Given the description of an element on the screen output the (x, y) to click on. 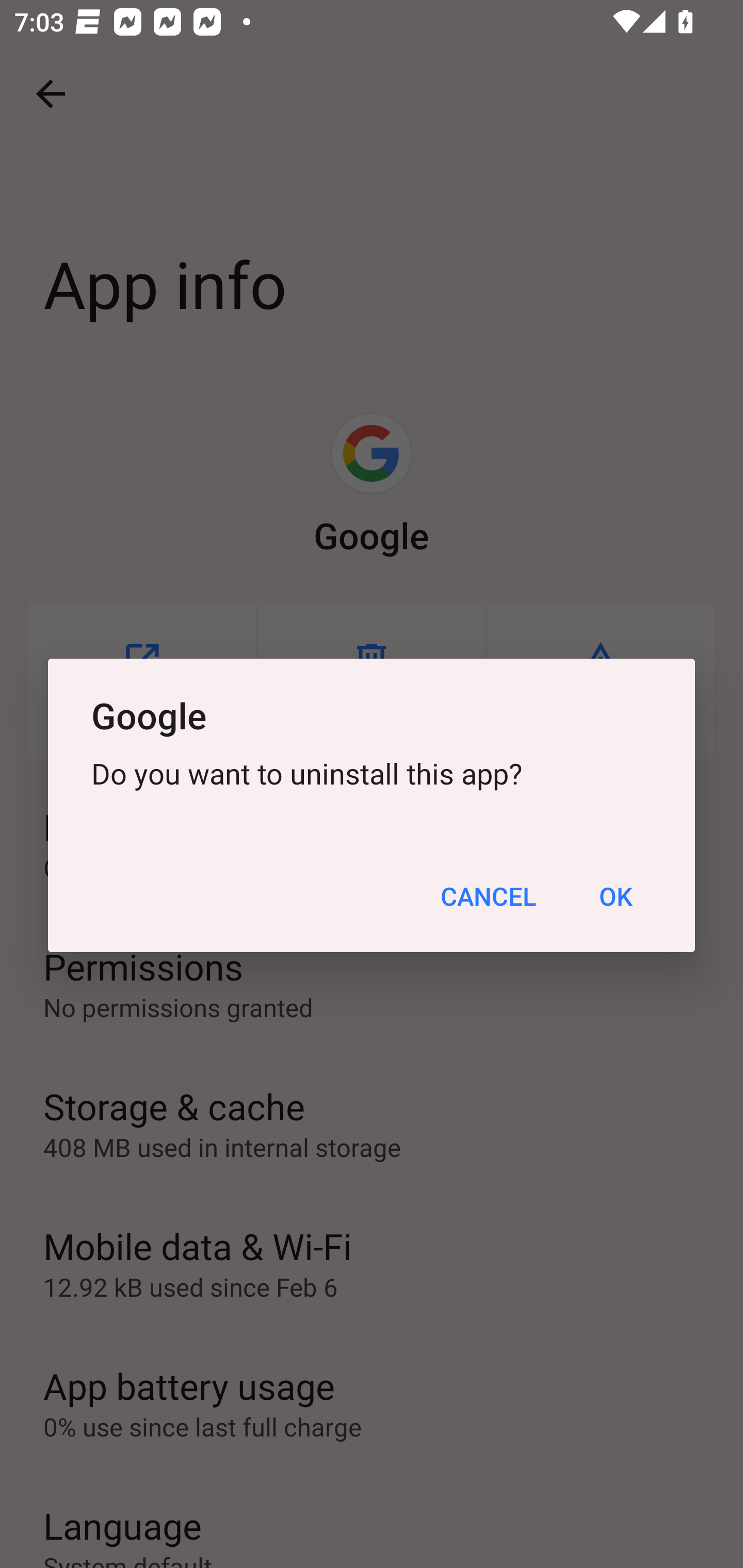
CANCEL (488, 895)
OK (615, 895)
